Given the description of an element on the screen output the (x, y) to click on. 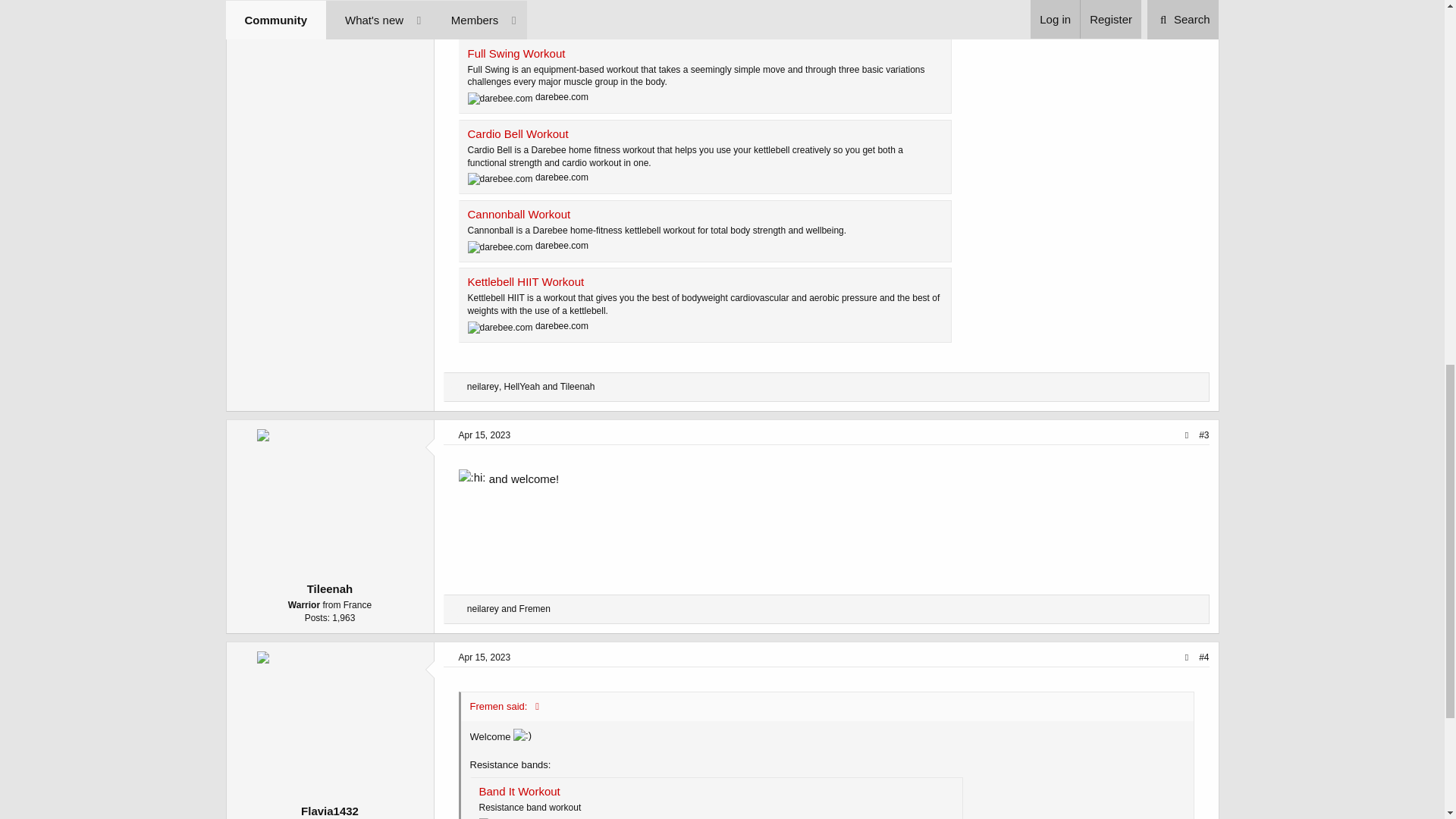
Like (457, 387)
Like (457, 609)
Apr 15, 2023 at 8:06 PM (483, 434)
Apr 15, 2023 at 10:32 PM (483, 656)
Bee Welcome    :hi: (471, 477)
